Given the description of an element on the screen output the (x, y) to click on. 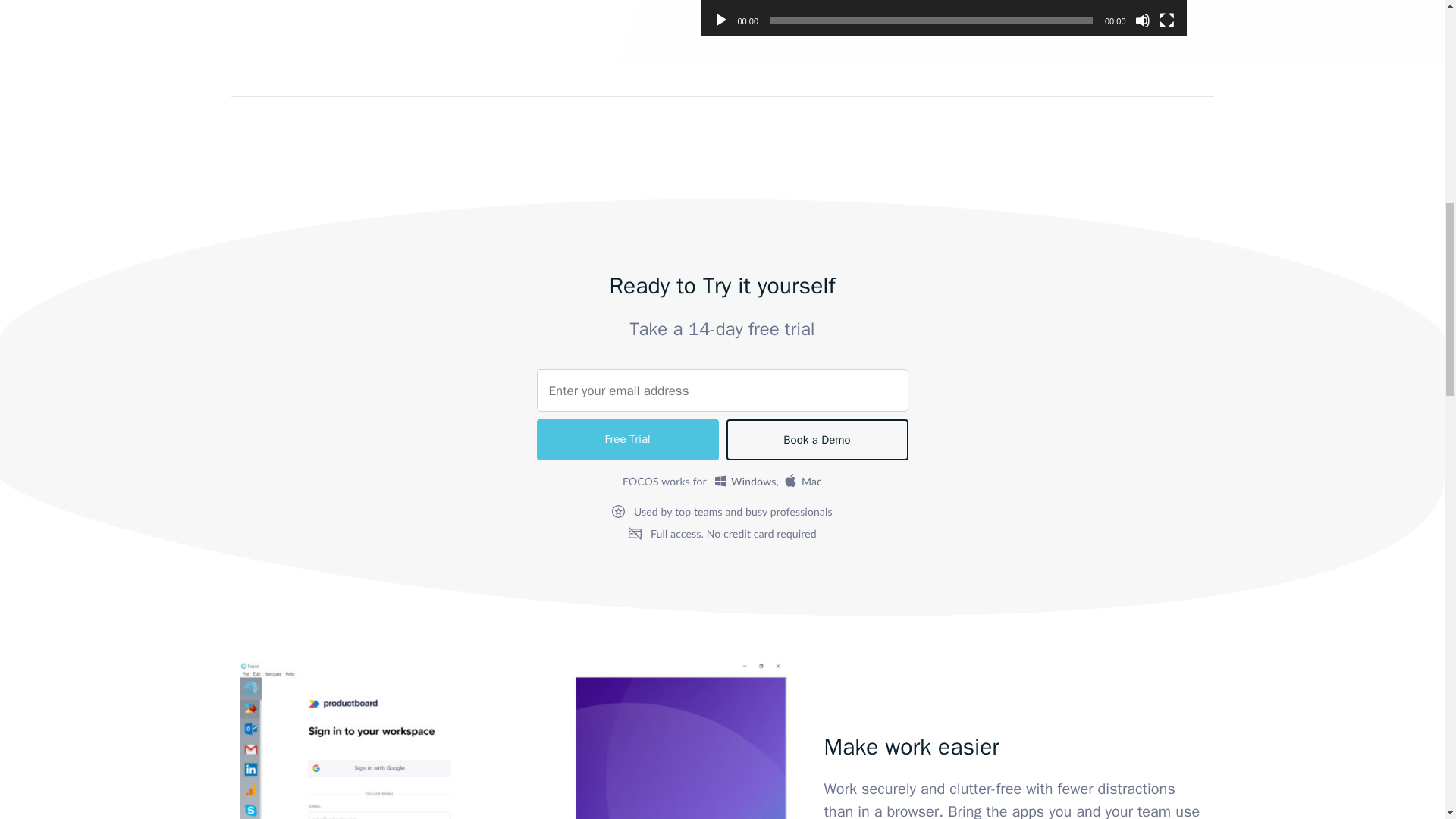
Play (720, 20)
Mute (1142, 20)
Free Trial (628, 439)
Fullscreen (1165, 20)
